Given the description of an element on the screen output the (x, y) to click on. 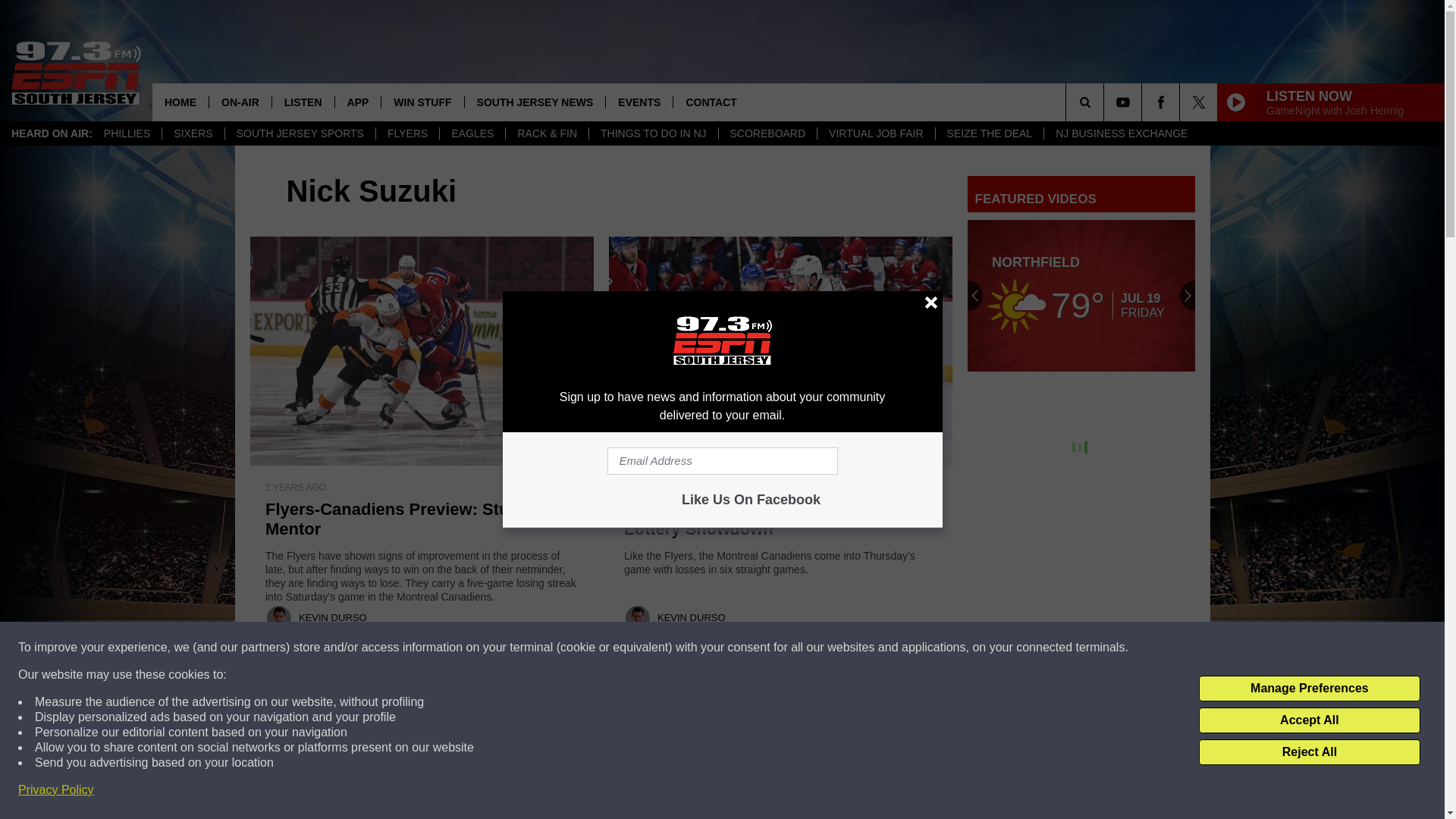
EAGLES (472, 133)
SCOREBOARD (766, 133)
SEIZE THE DEAL (988, 133)
NJ BUSINESS EXCHANGE (1120, 133)
HOME (180, 102)
Accept All (1309, 720)
Privacy Policy (55, 789)
SIXERS (192, 133)
ON-AIR (239, 102)
SEARCH (1106, 102)
APP (357, 102)
FLYERS (407, 133)
Northfield Weather (1081, 295)
SOUTH JERSEY SPORTS (299, 133)
LISTEN (302, 102)
